Given the description of an element on the screen output the (x, y) to click on. 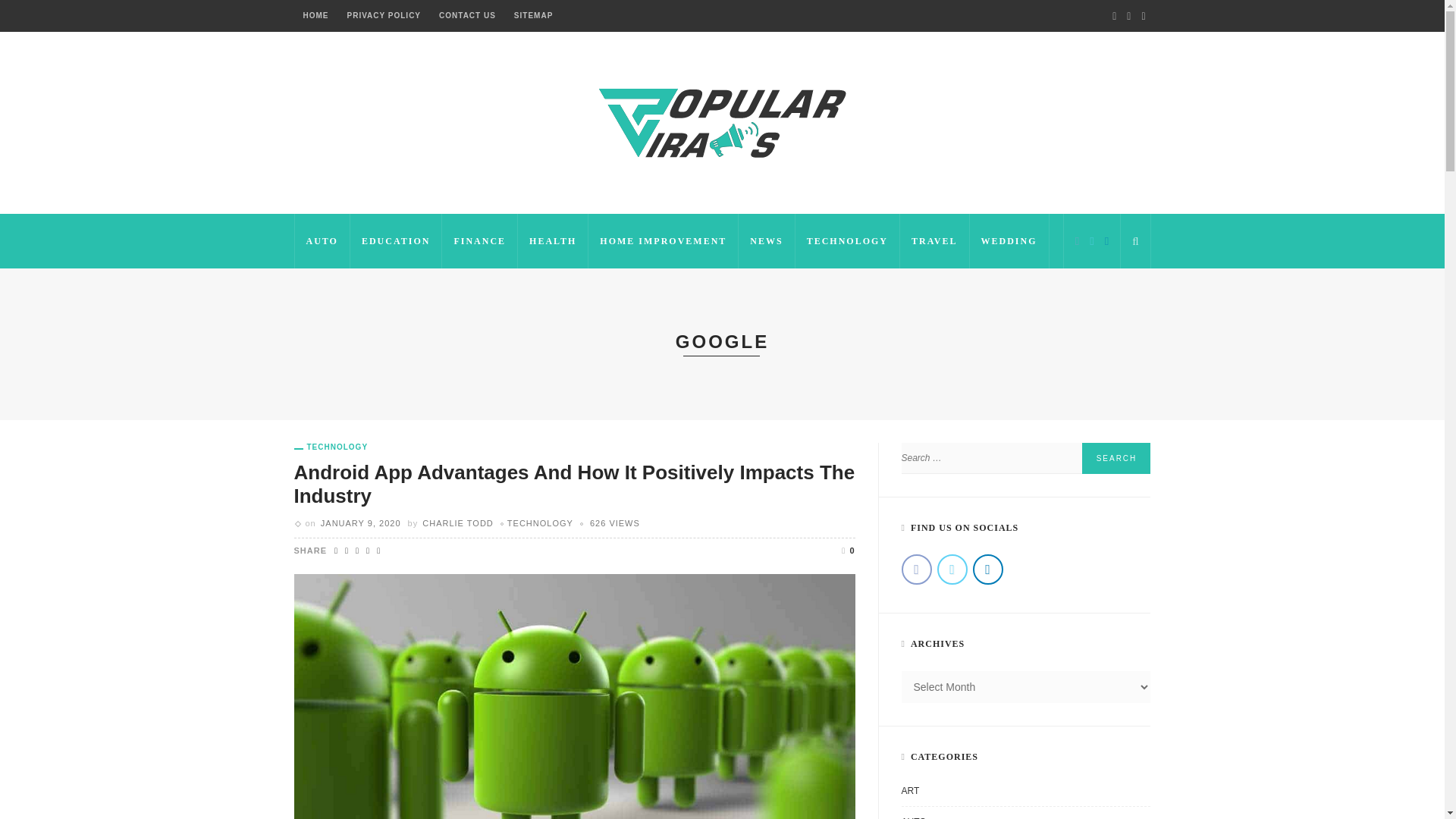
Popular Virals (722, 121)
Technology (331, 447)
Search (1115, 458)
Technology (539, 522)
Search (1115, 458)
